Given the description of an element on the screen output the (x, y) to click on. 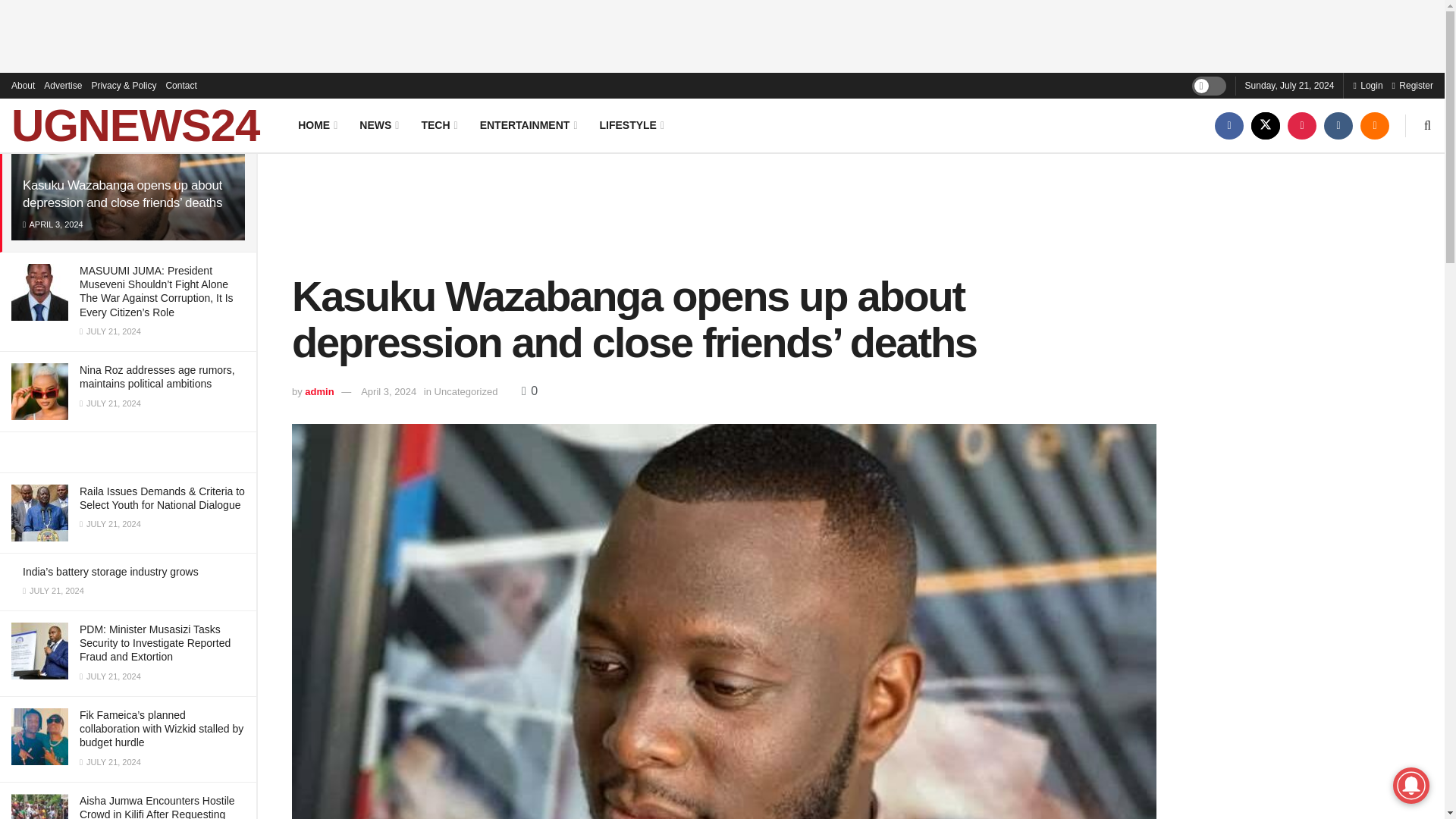
Nina Roz addresses age rumors, maintains political ambitions (157, 376)
Advertisement (722, 33)
Advertisement (724, 210)
Filter (227, 96)
Advertise (62, 85)
About (22, 85)
